Given the description of an element on the screen output the (x, y) to click on. 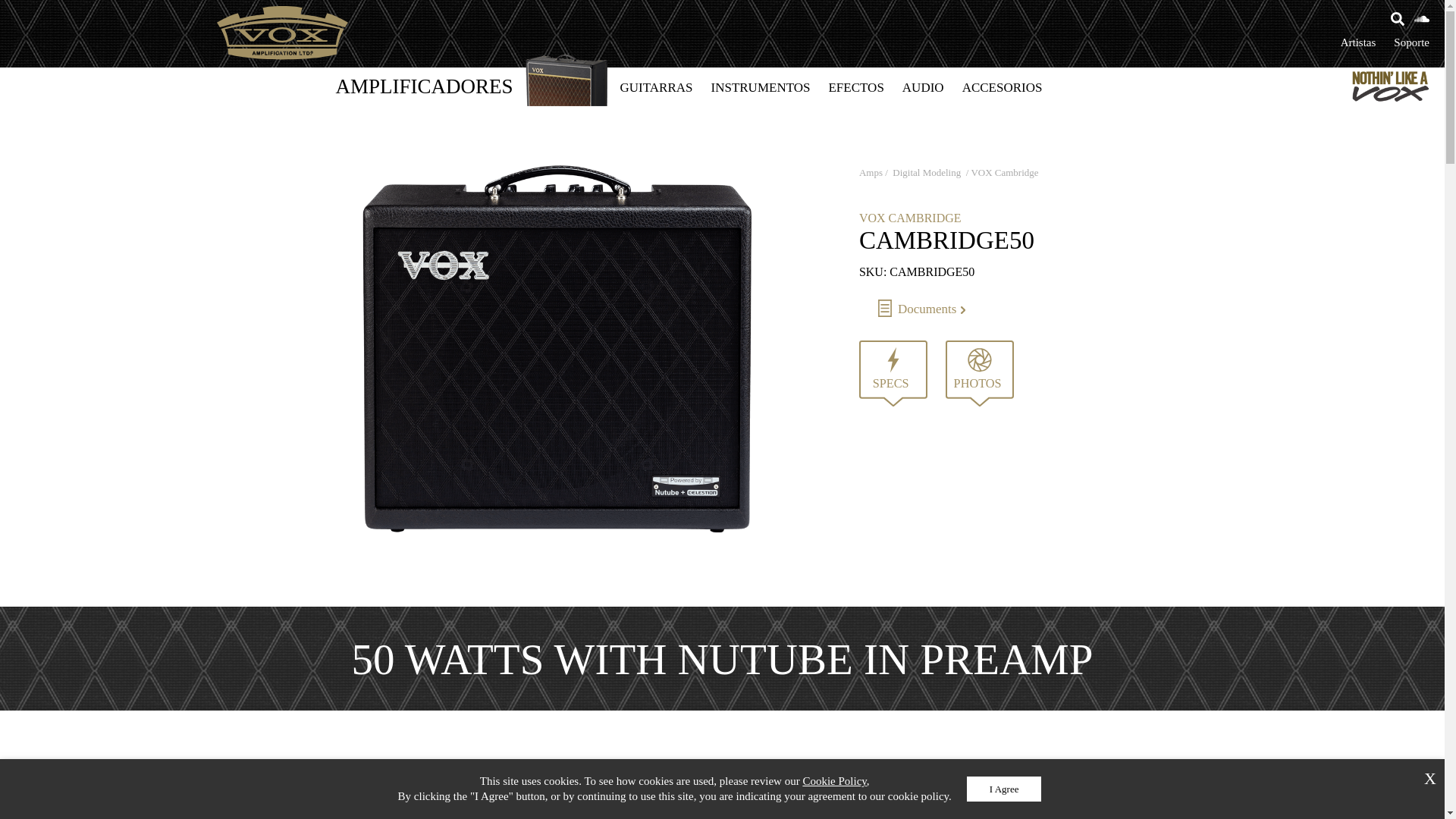
open search box or submit search (1397, 19)
Artistas (1357, 42)
logo link to home page (281, 32)
Soporte (1411, 42)
SoundCloud (1421, 19)
PHOTOS (978, 373)
AMPLIFICADORES (425, 86)
SPECS (893, 373)
